Given the description of an element on the screen output the (x, y) to click on. 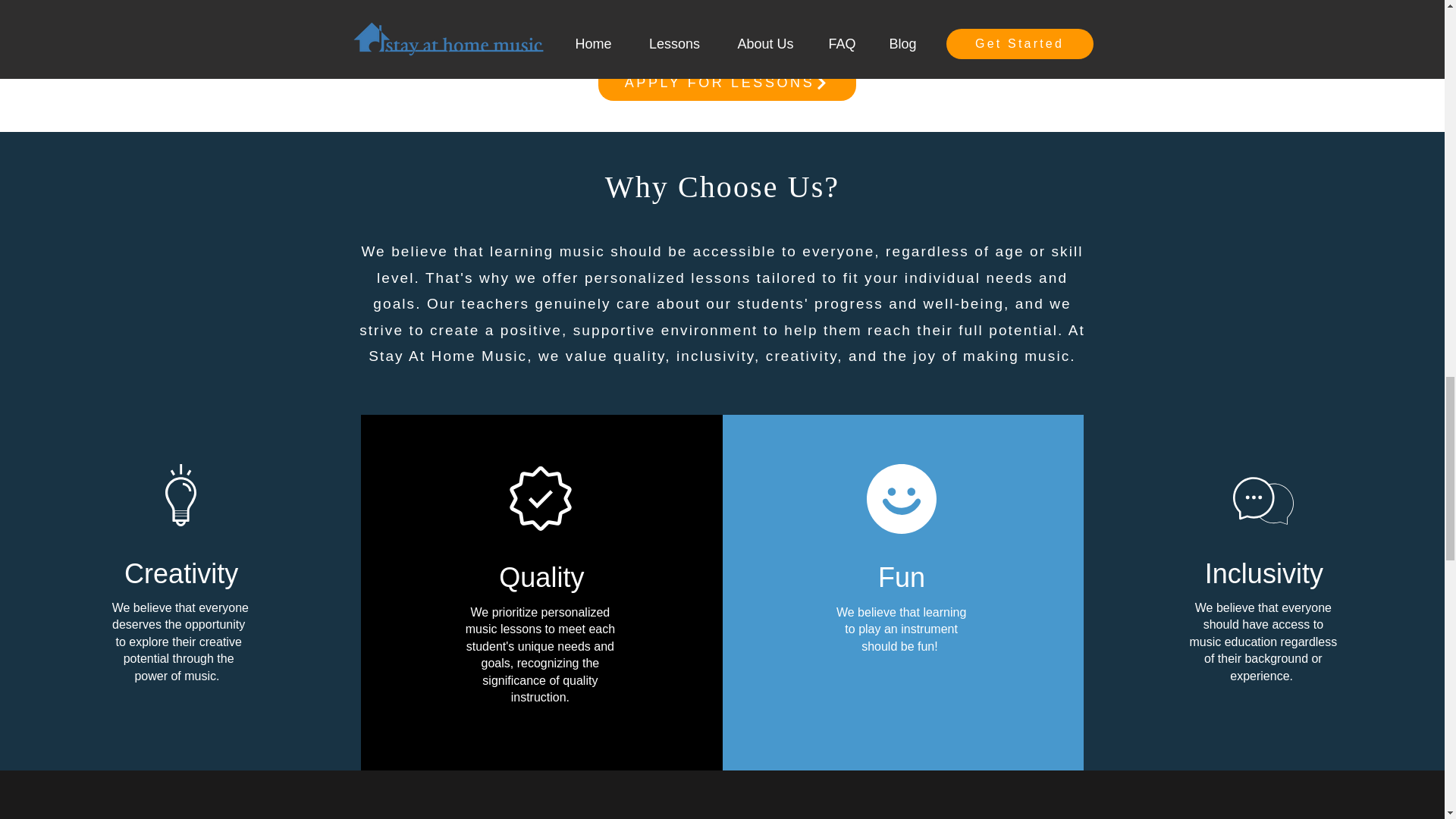
APPLY FOR LESSONS (726, 82)
